Given the description of an element on the screen output the (x, y) to click on. 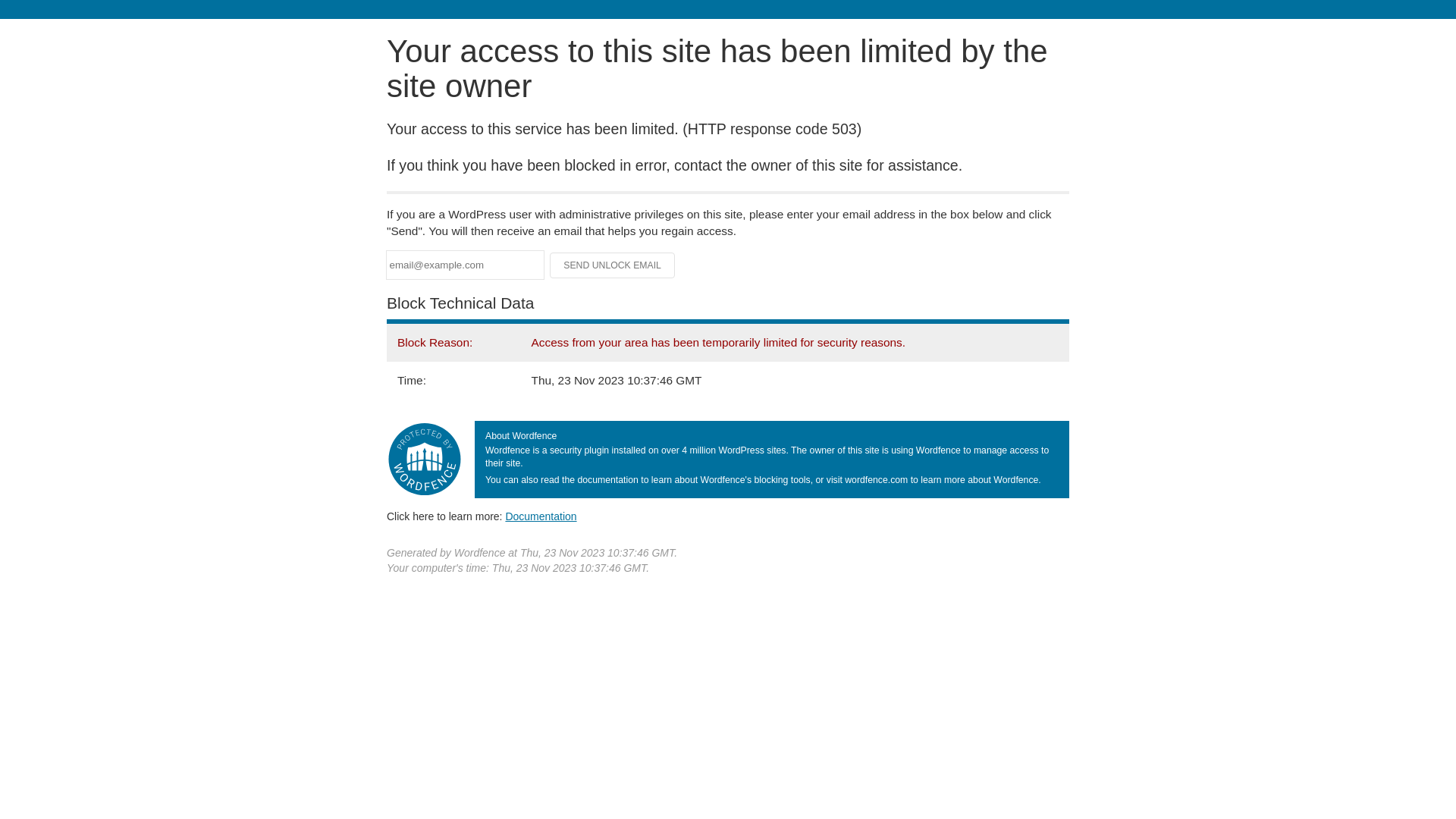
Documentation Element type: text (540, 516)
Send Unlock Email Element type: text (612, 265)
